Given the description of an element on the screen output the (x, y) to click on. 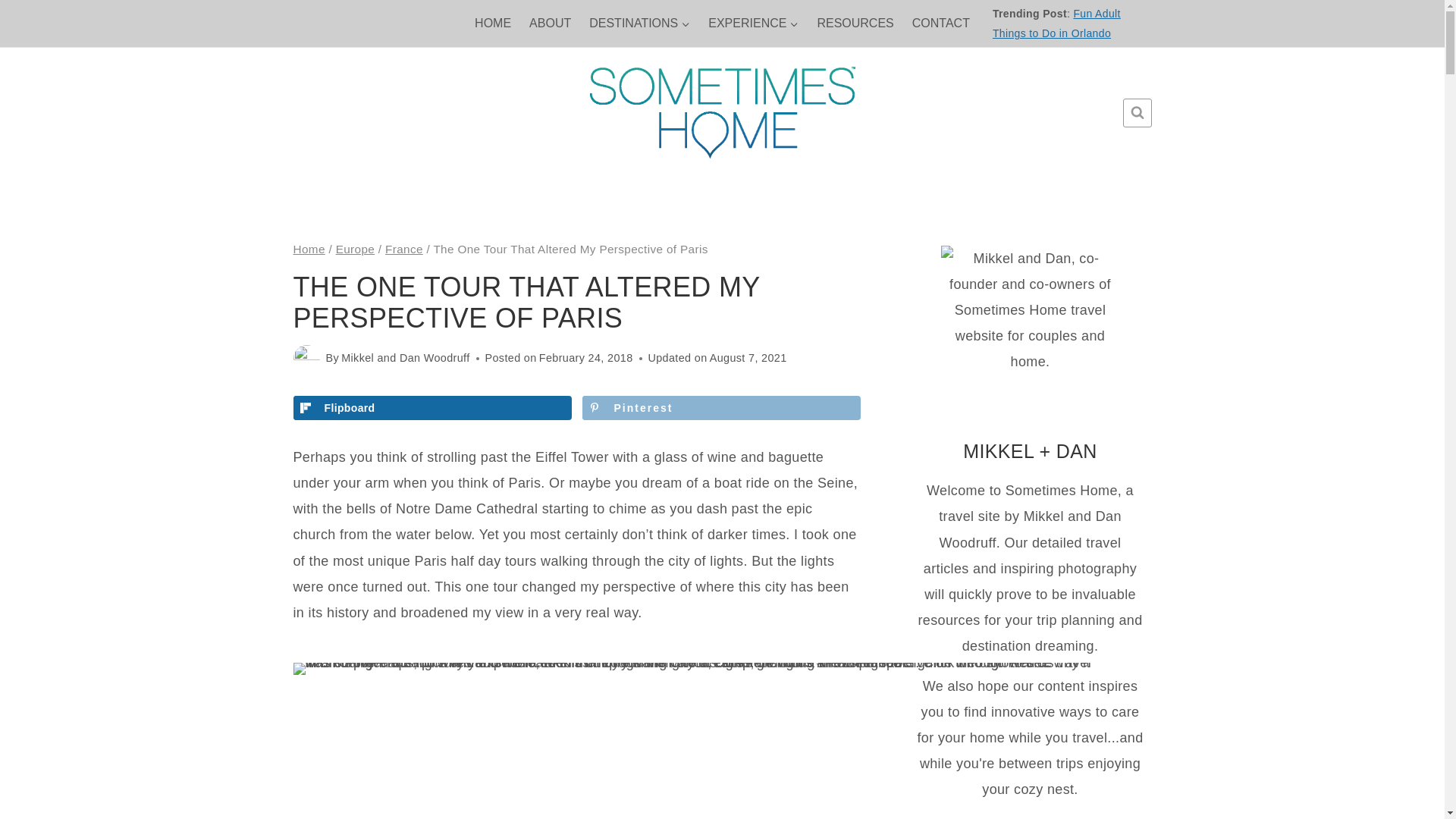
DESTINATIONS (638, 23)
Save to Pinterest (721, 407)
ABOUT (549, 23)
Share on Flipboard (431, 407)
HOME (492, 23)
